Given the description of an element on the screen output the (x, y) to click on. 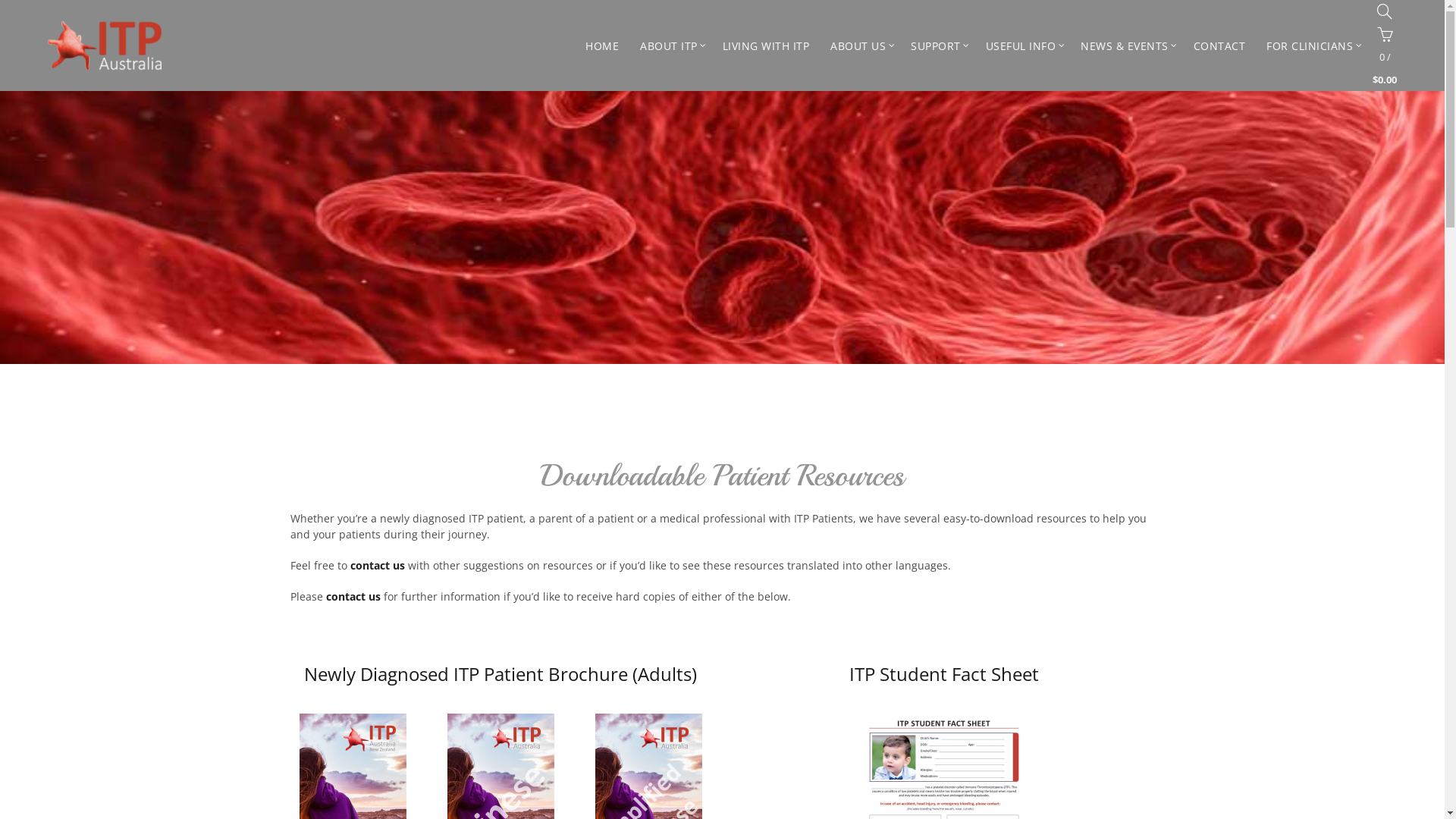
LIVING WITH ITP Element type: text (765, 45)
ABOUT US Element type: text (857, 45)
0 / $0.00 Element type: text (1384, 56)
HOME Element type: text (601, 45)
FOR CLINICIANS Element type: text (1309, 45)
USEFUL INFO Element type: text (1020, 45)
contact us Element type: text (377, 565)
SUPPORT Element type: text (935, 45)
contact us Element type: text (353, 596)
ABOUT ITP Element type: text (668, 45)
CONTACT Element type: text (1219, 45)
NEWS & EVENTS Element type: text (1124, 45)
